Given the description of an element on the screen output the (x, y) to click on. 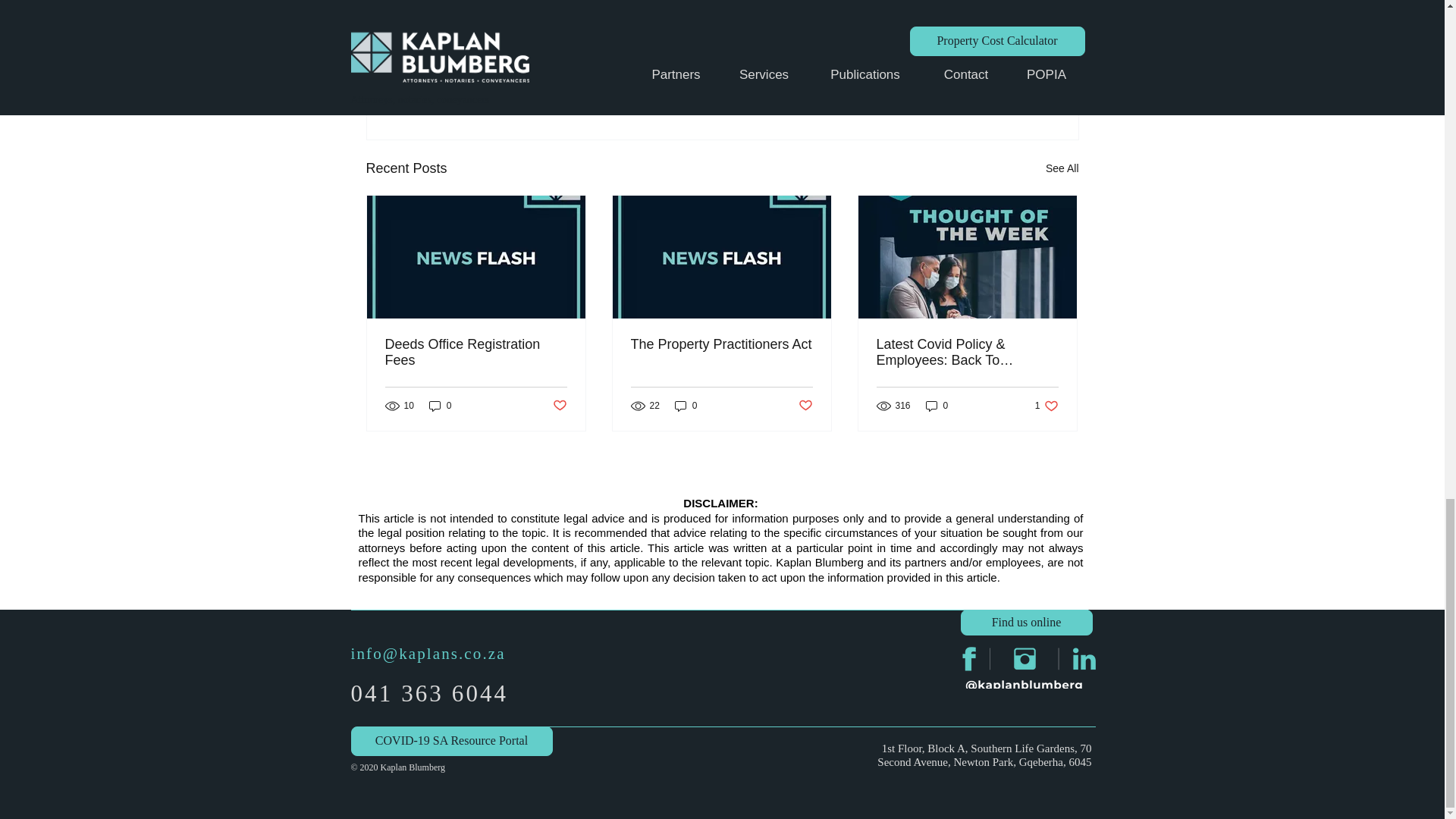
Post not marked as liked (995, 85)
See All (1061, 168)
Post not marked as liked (804, 405)
The Property Practitioners Act (721, 344)
Newsflash (912, 40)
Deeds Office Registration Fees (476, 352)
COVID-19 (978, 40)
0 (440, 405)
Post not marked as liked (558, 405)
0 (685, 405)
